Given the description of an element on the screen output the (x, y) to click on. 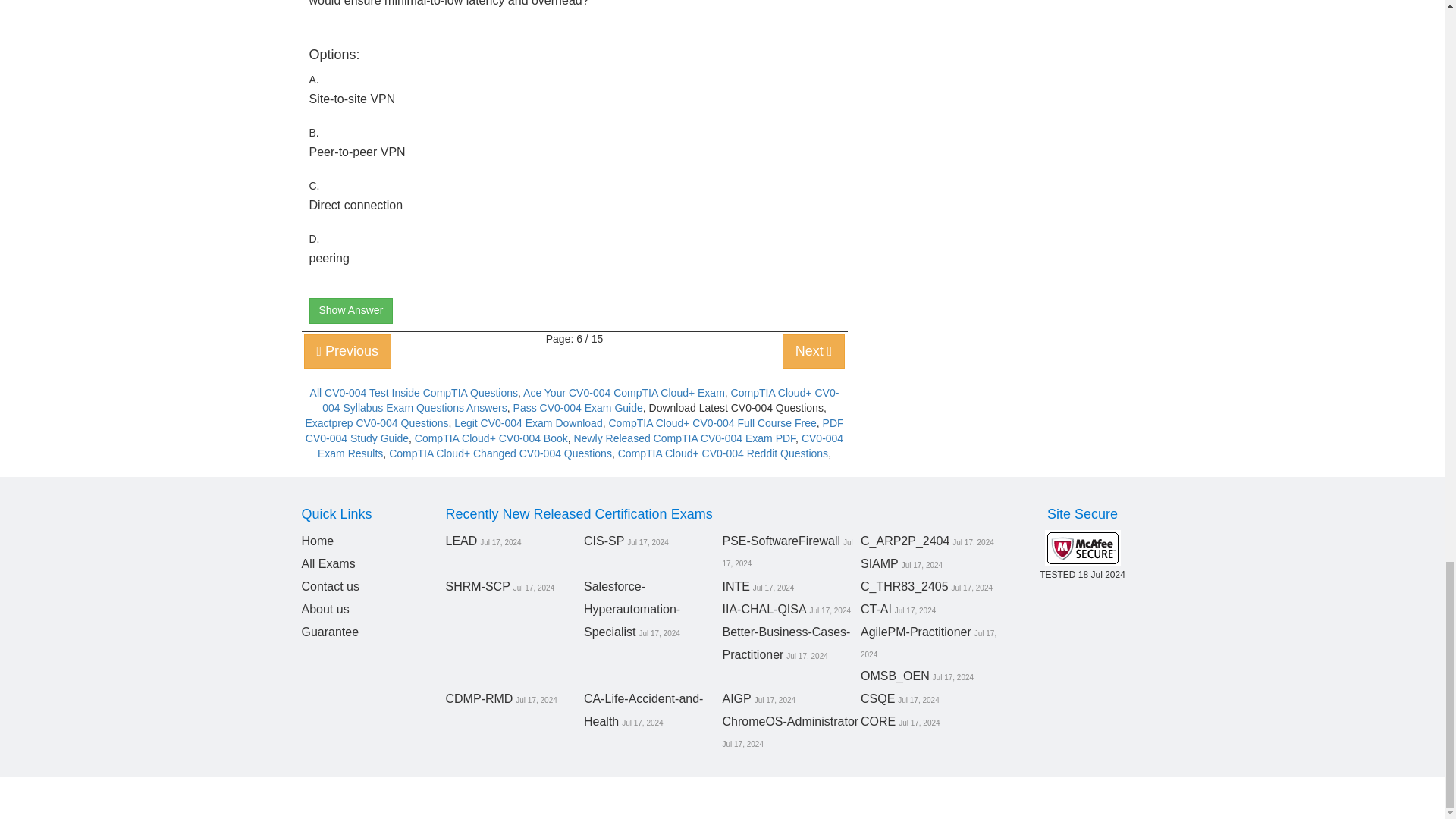
Pass CV0-004 Exam Guide (578, 408)
Show Answer (350, 310)
CV0-004 Exam Results (580, 445)
Exactprep CV0-004 Questions (376, 422)
Newly Released CompTIA CV0-004 Exam PDF (684, 438)
All CV0-004 Test Inside CompTIA Questions (414, 392)
Previous (346, 350)
PDF CV0-004 Study Guide (574, 430)
Next (814, 350)
Legit CV0-004 Exam Download (528, 422)
